Given the description of an element on the screen output the (x, y) to click on. 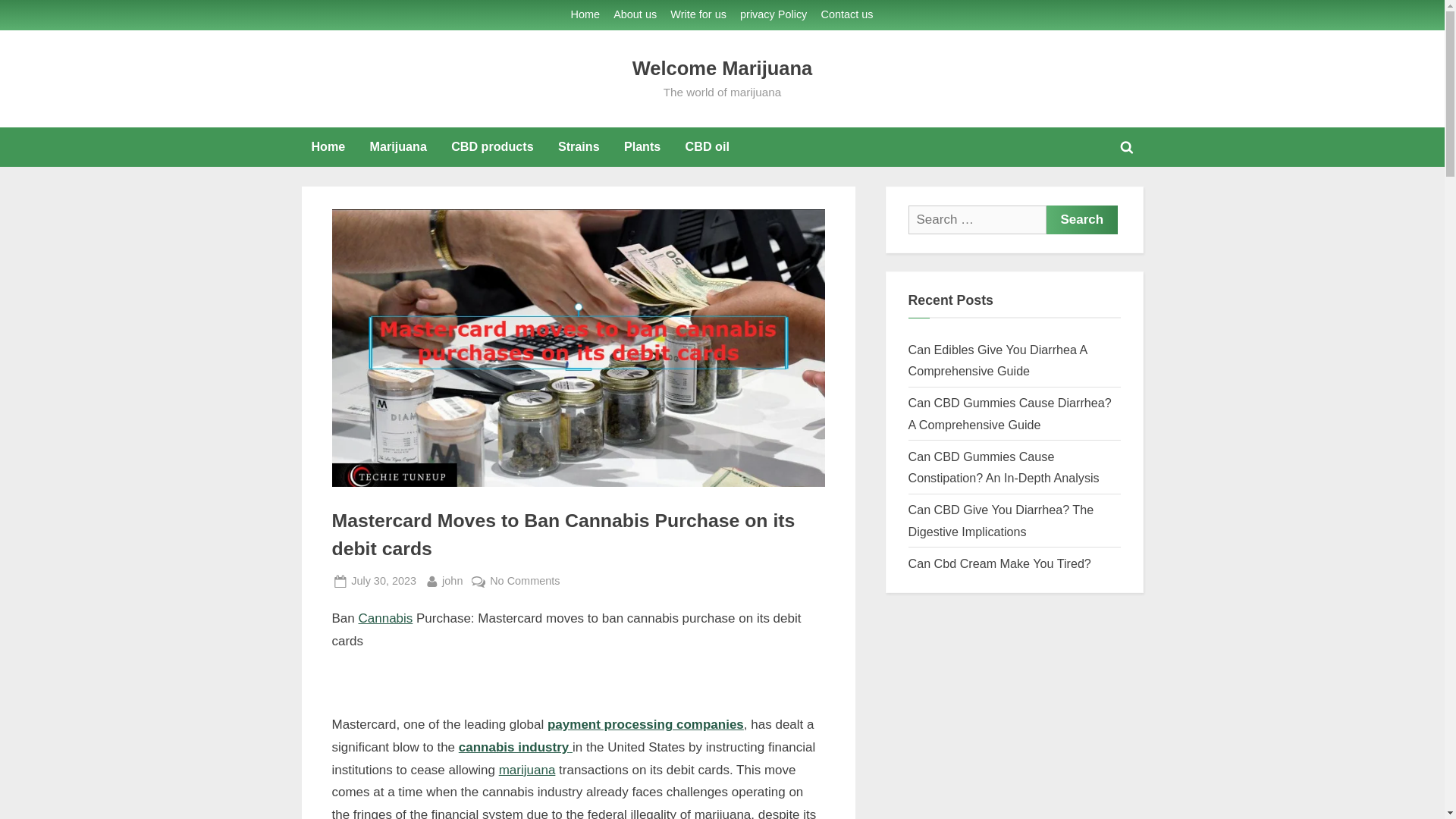
Search (1082, 219)
About us (634, 15)
Toggle search form (1126, 146)
Contact us (847, 15)
Welcome Marijuana (721, 67)
CBD oil (707, 147)
marijuana (527, 769)
Search (1082, 219)
CBD products (492, 147)
Strains (579, 147)
privacy Policy (452, 580)
Marijuana (772, 15)
Plants (397, 147)
